Given the description of an element on the screen output the (x, y) to click on. 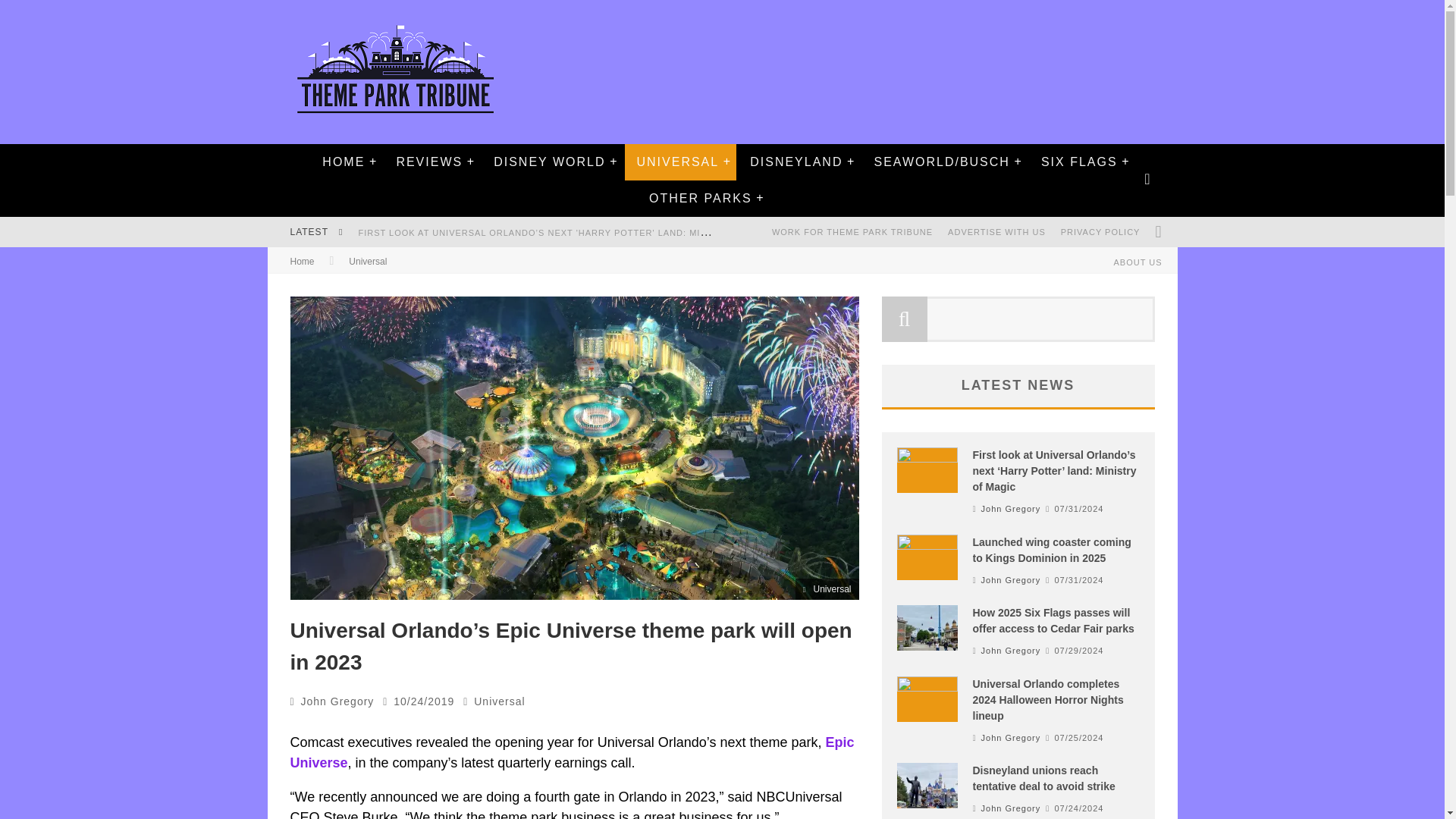
SIX FLAGS (1079, 162)
John Gregory (337, 701)
Log In (721, 470)
DISNEY WORLD (548, 162)
WORK FOR THEME PARK TRIBUNE (852, 232)
UNIVERSAL (677, 162)
PRIVACY POLICY (1100, 232)
SeaWorld Orlando (940, 162)
ABOUT US (1137, 262)
Universal (368, 261)
ADVERTISE WITH US (996, 232)
OTHER PARKS (699, 198)
Home (301, 261)
Universal (499, 701)
View all posts in Universal (499, 701)
